Given the description of an element on the screen output the (x, y) to click on. 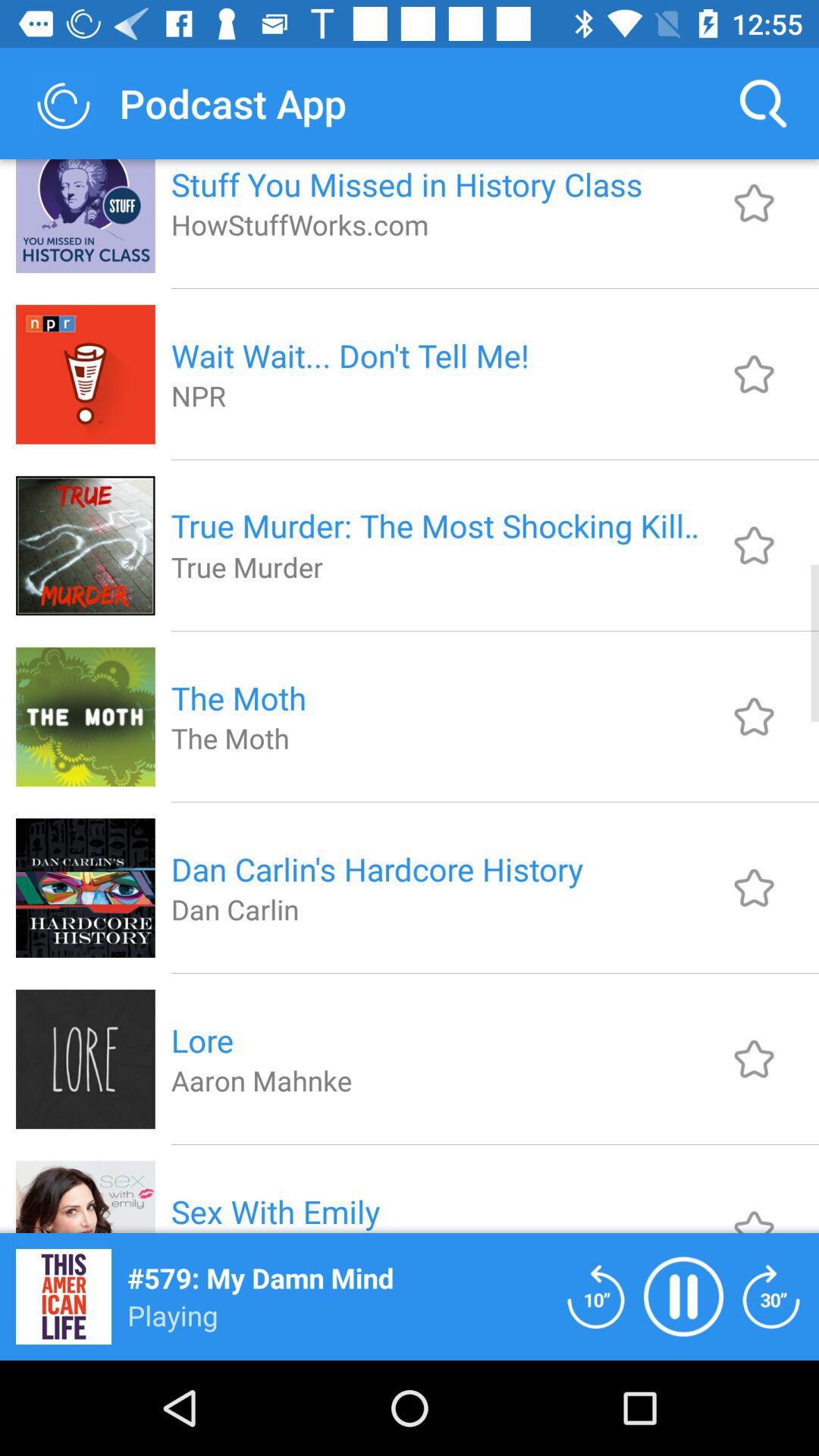
favorite (754, 1209)
